Given the description of an element on the screen output the (x, y) to click on. 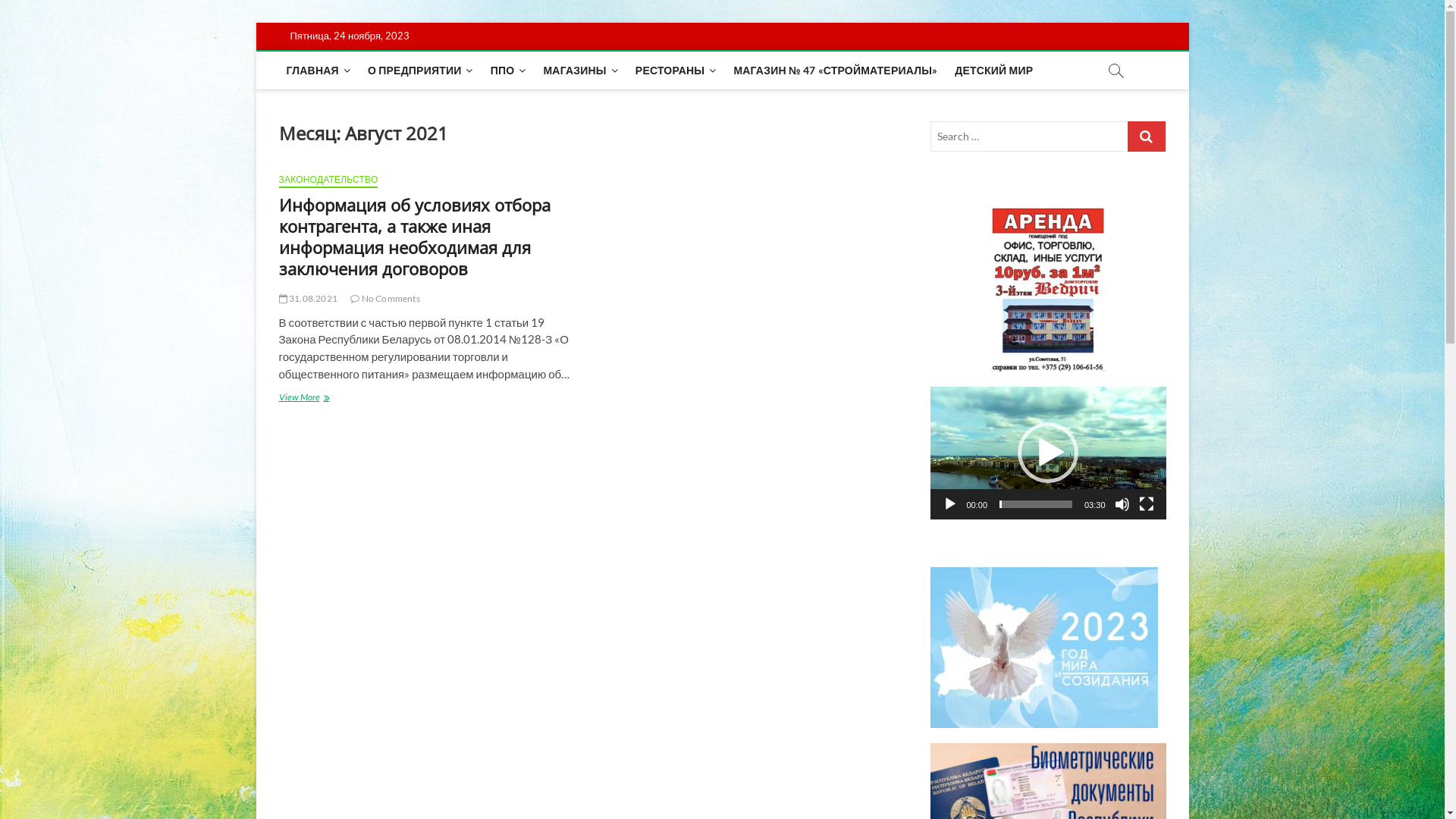
No Comments Element type: text (385, 298)
Skip to content Element type: text (254, 21)
31.08.2021 Element type: text (308, 298)
